Given the description of an element on the screen output the (x, y) to click on. 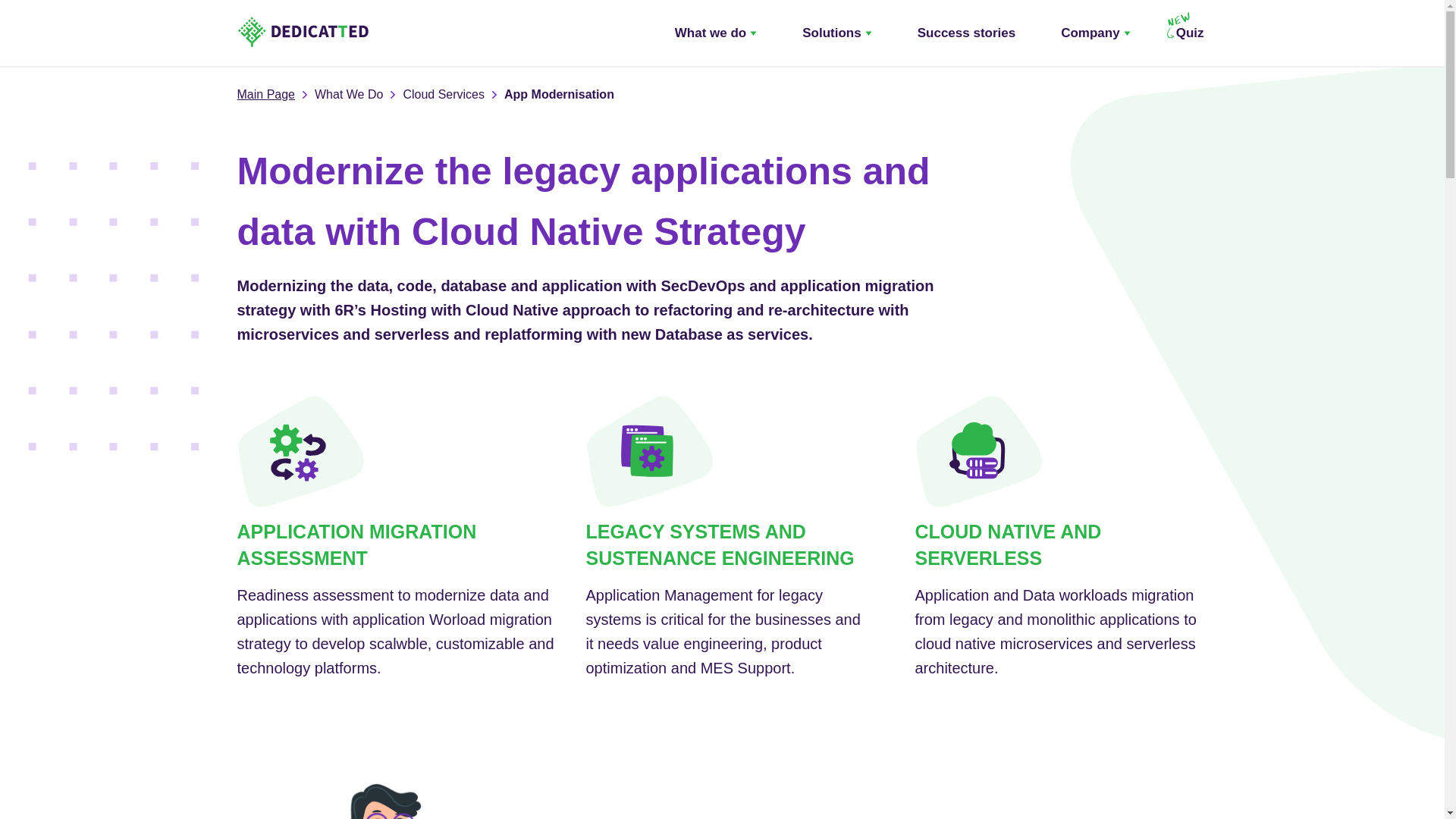
Company (1095, 33)
Main Page (265, 94)
What we do (715, 33)
Success stories (966, 33)
Solutions (836, 33)
